Given the description of an element on the screen output the (x, y) to click on. 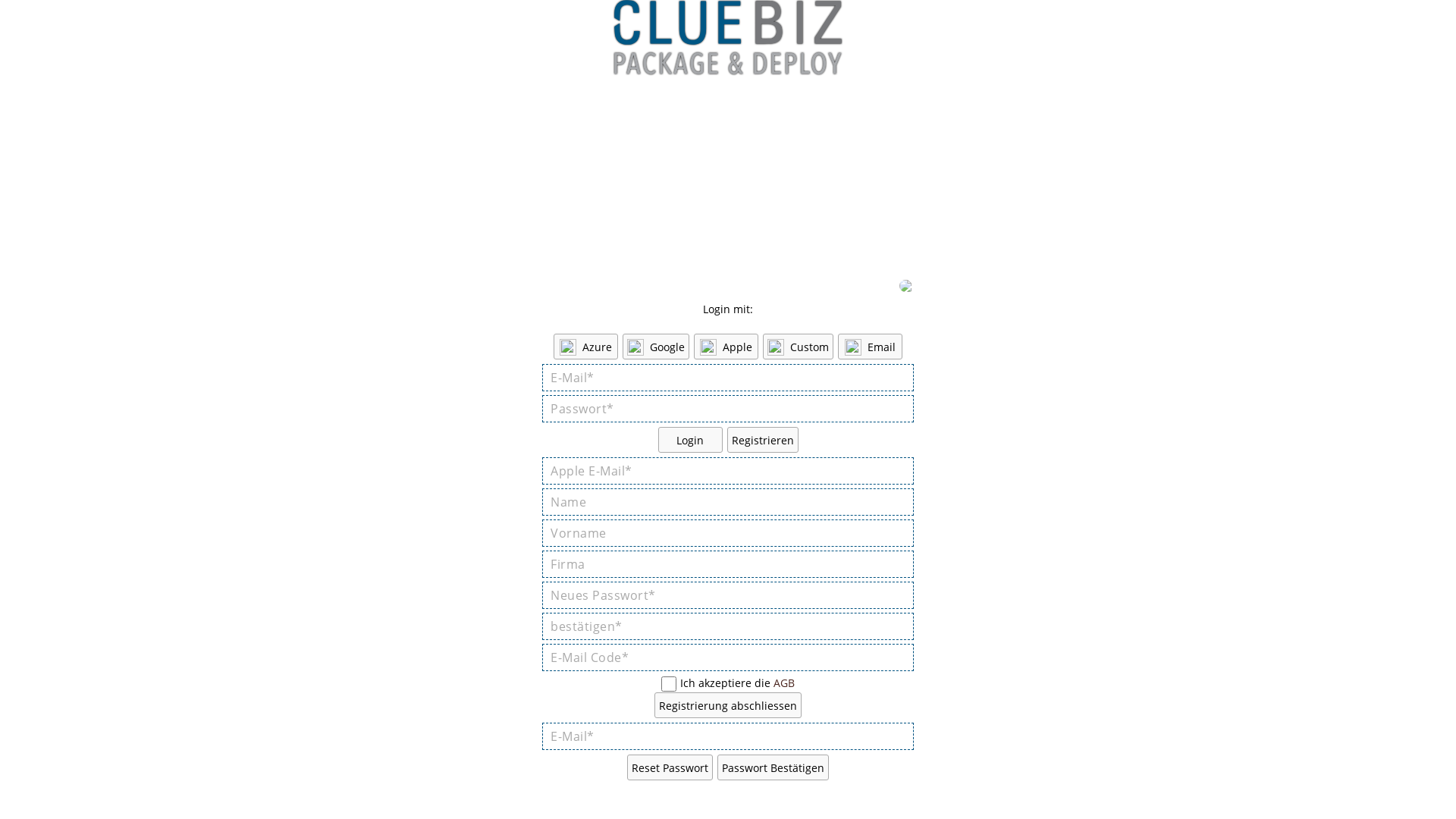
Registrieren Element type: text (761, 439)
Login Element type: text (690, 439)
Registrierung abschliessen Element type: text (727, 705)
AGB Element type: text (783, 682)
Reset Passwort Element type: text (669, 767)
Custom Element type: text (797, 346)
Email Element type: text (869, 346)
Azure Element type: text (585, 346)
Google Element type: text (655, 346)
Apple Element type: text (725, 346)
